Given the description of an element on the screen output the (x, y) to click on. 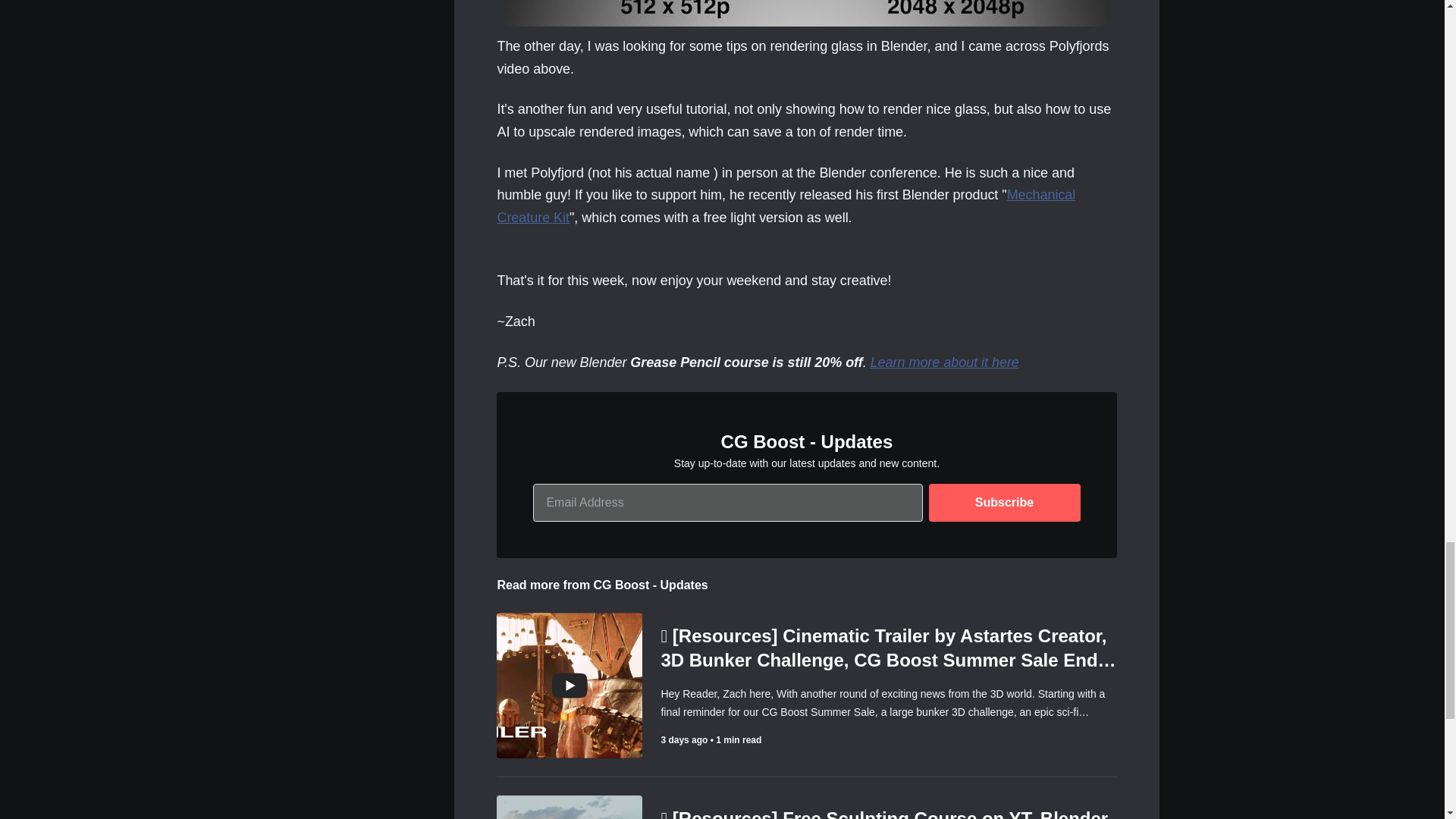
Mechanical Creature Kit (785, 206)
Learn more about it here (944, 362)
Subscribe (1004, 502)
